Given the description of an element on the screen output the (x, y) to click on. 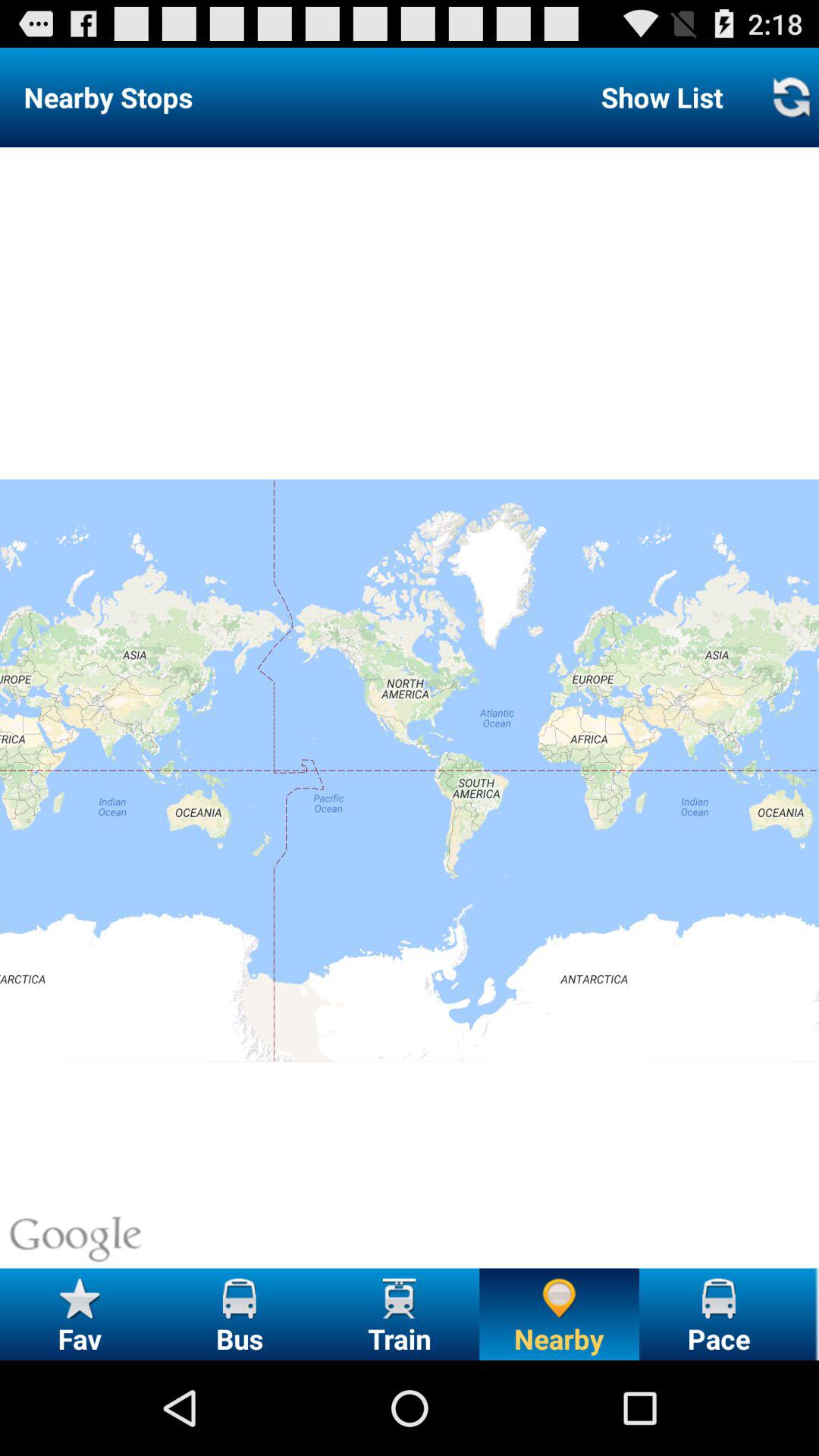
refresh the page (791, 97)
